Given the description of an element on the screen output the (x, y) to click on. 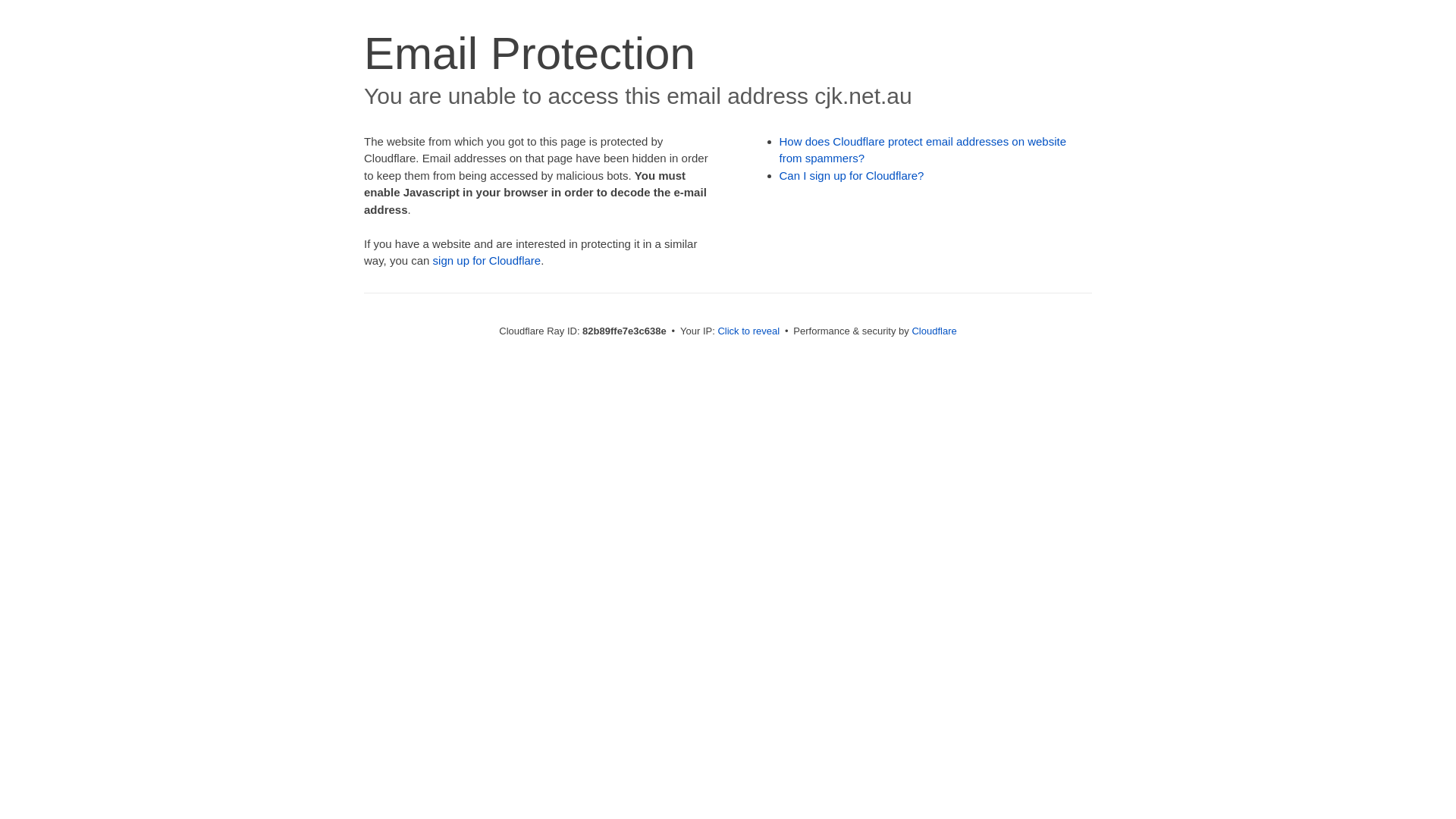
Can I sign up for Cloudflare? Element type: text (851, 175)
Click to reveal Element type: text (748, 330)
Cloudflare Element type: text (933, 330)
sign up for Cloudflare Element type: text (487, 260)
